Given the description of an element on the screen output the (x, y) to click on. 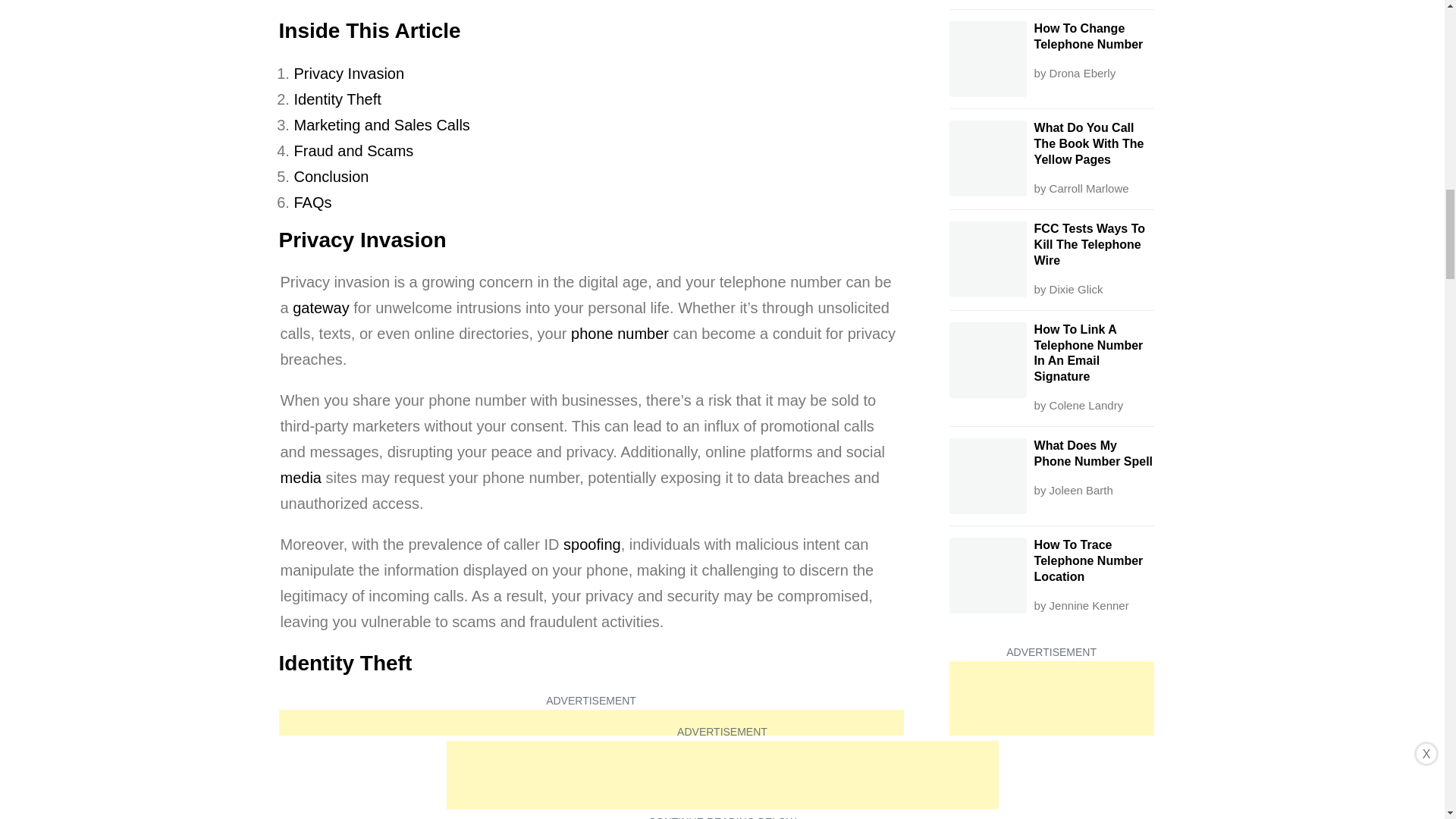
gateway (320, 307)
spoofing (592, 544)
media (301, 477)
phone number (619, 333)
